Given the description of an element on the screen output the (x, y) to click on. 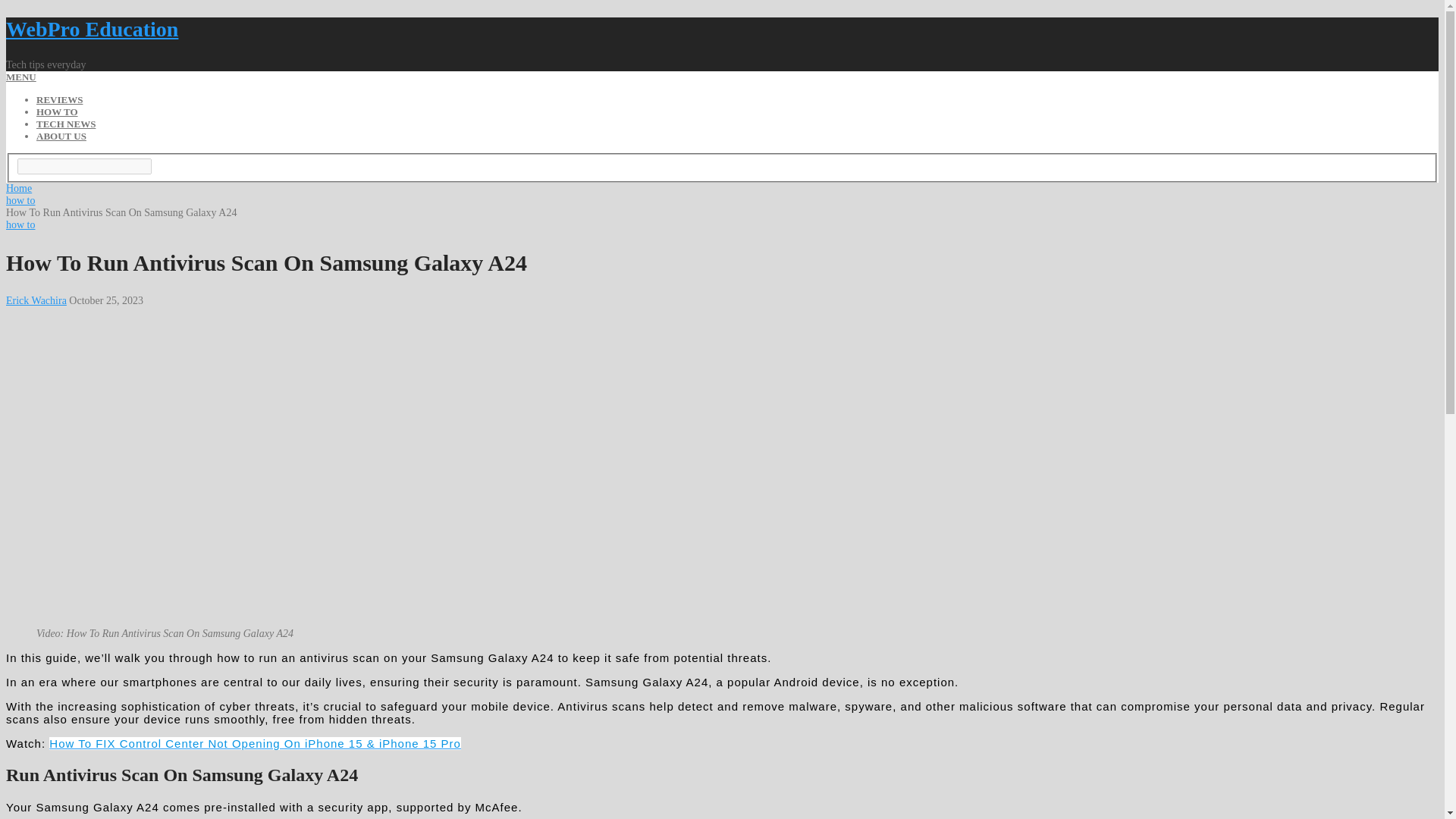
TECH NEWS (66, 123)
View all posts in how to (19, 224)
Erick Wachira (35, 300)
WebPro Education (91, 28)
HOW TO (57, 111)
REVIEWS (59, 99)
Posts by Erick Wachira (35, 300)
MENU (20, 76)
Home (18, 188)
